Given the description of an element on the screen output the (x, y) to click on. 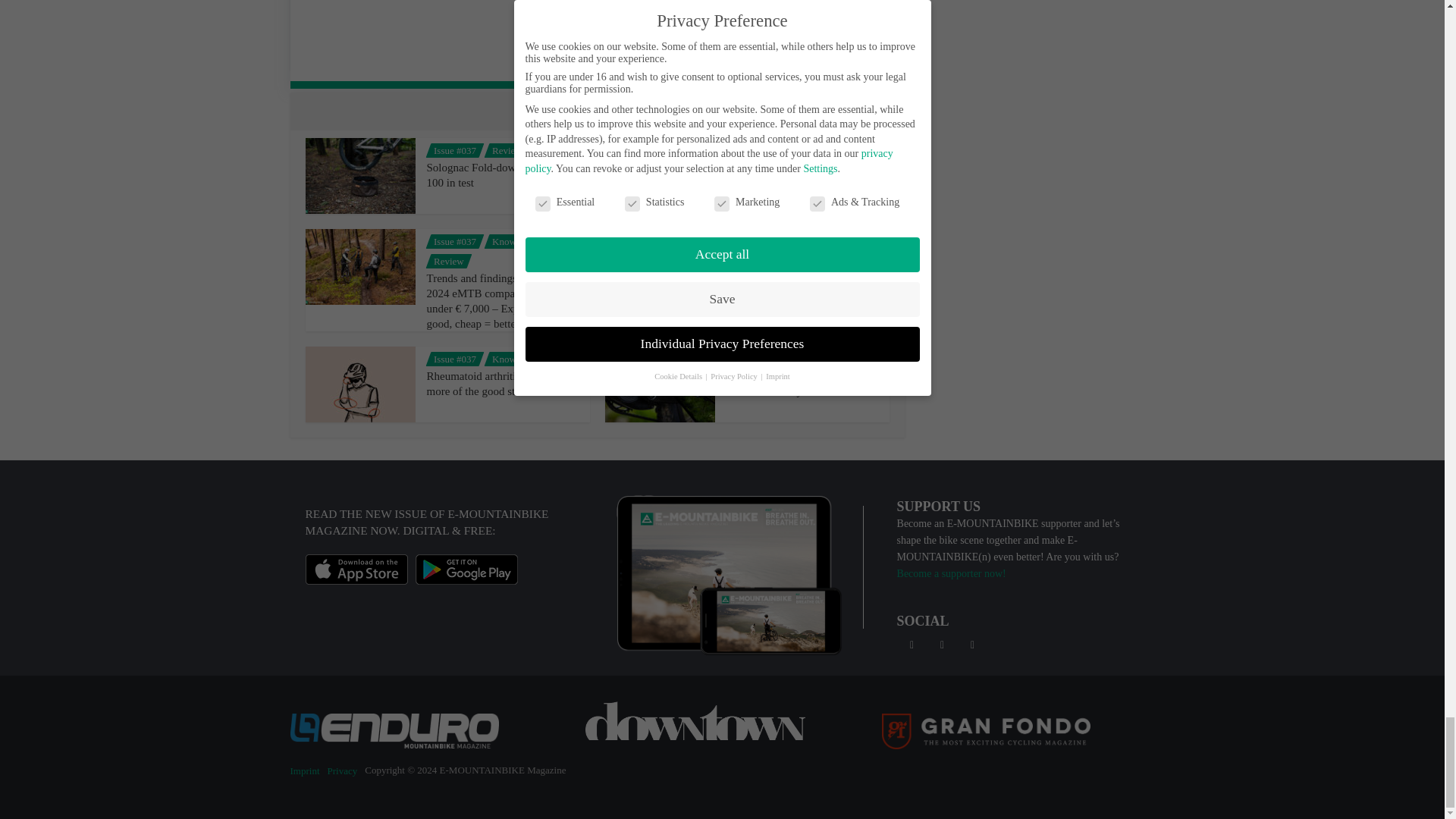
privacy policy (713, 17)
Solognac Fold-down Dog Bowl 100 in test (498, 175)
Exclusive first review: New DJI Avinox motor system (799, 383)
ENDURO Mountainbike Magazine (393, 729)
